Given the description of an element on the screen output the (x, y) to click on. 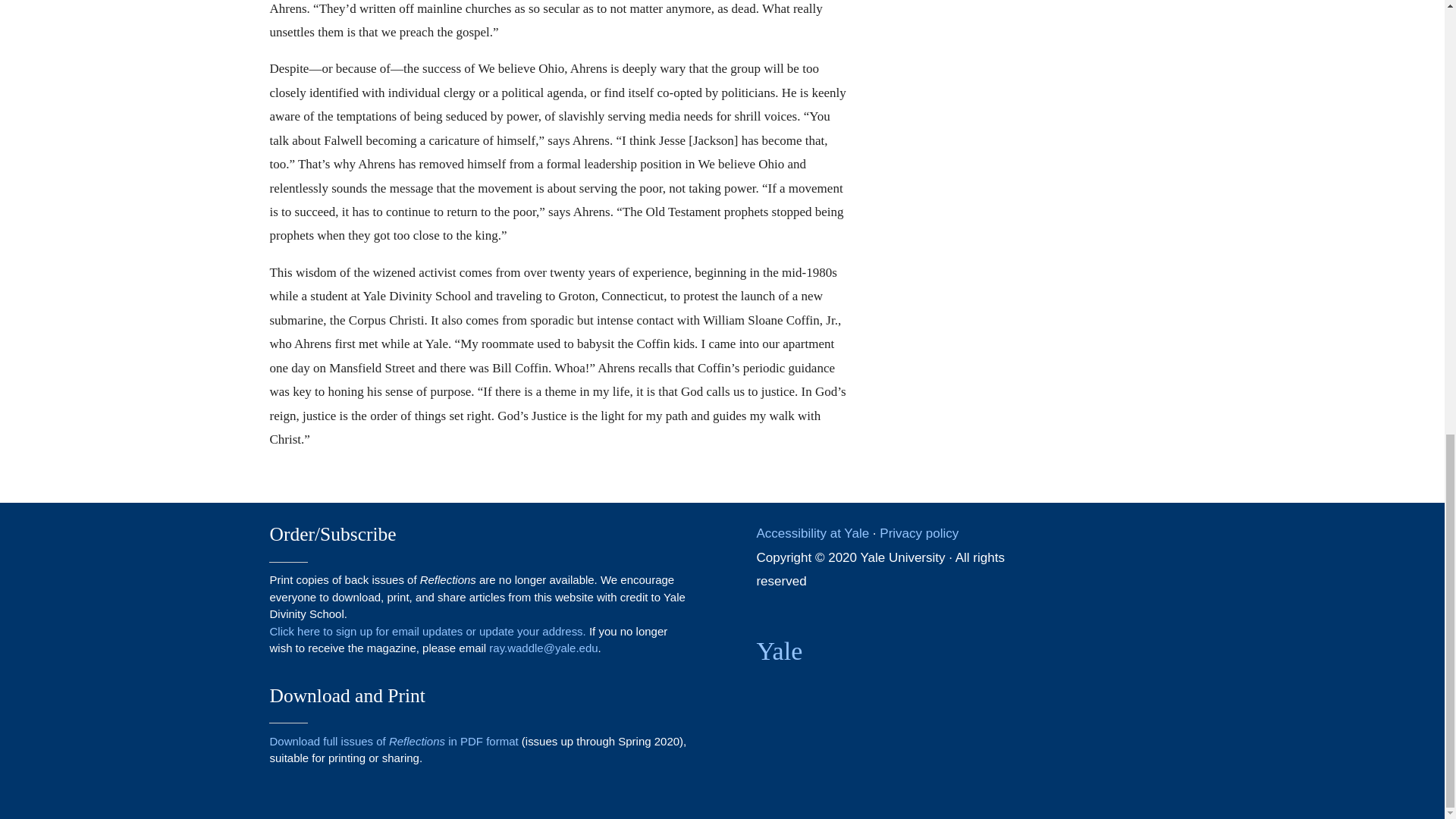
Privacy policy (918, 533)
Download full issues of Reflections in PDF format (393, 740)
Yale (778, 651)
Accessibility at Yale (812, 533)
